Given the description of an element on the screen output the (x, y) to click on. 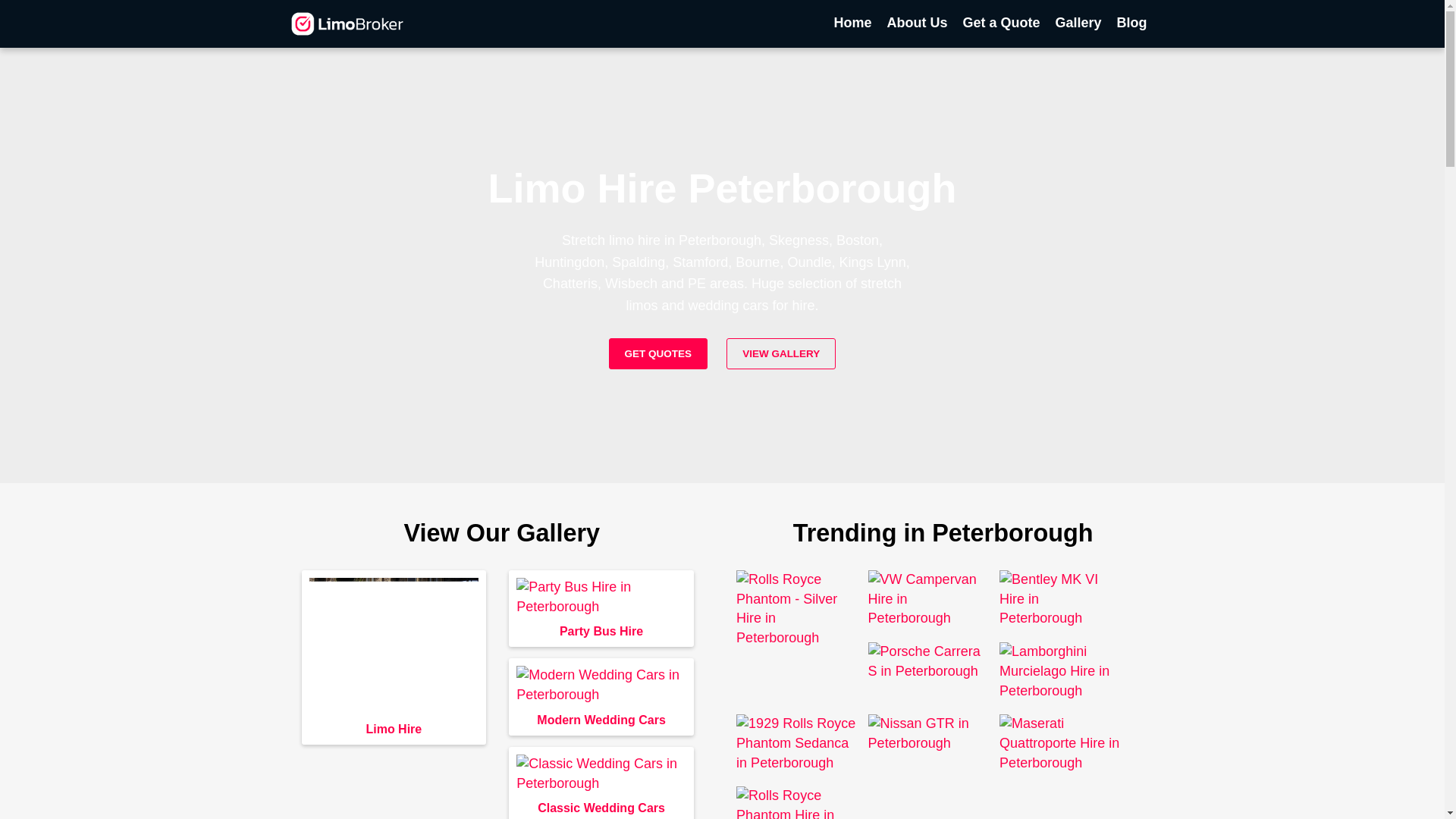
Party Bus Hire (600, 597)
Gallery (1077, 23)
About Us (916, 23)
Classic Wedding Cars in Peterborough (600, 806)
View Gallery (780, 353)
Classic Wedding Cars (600, 773)
Limo Hire (393, 729)
Blog (1131, 23)
Get a Quote (1000, 23)
GET QUOTES (657, 353)
